Given the description of an element on the screen output the (x, y) to click on. 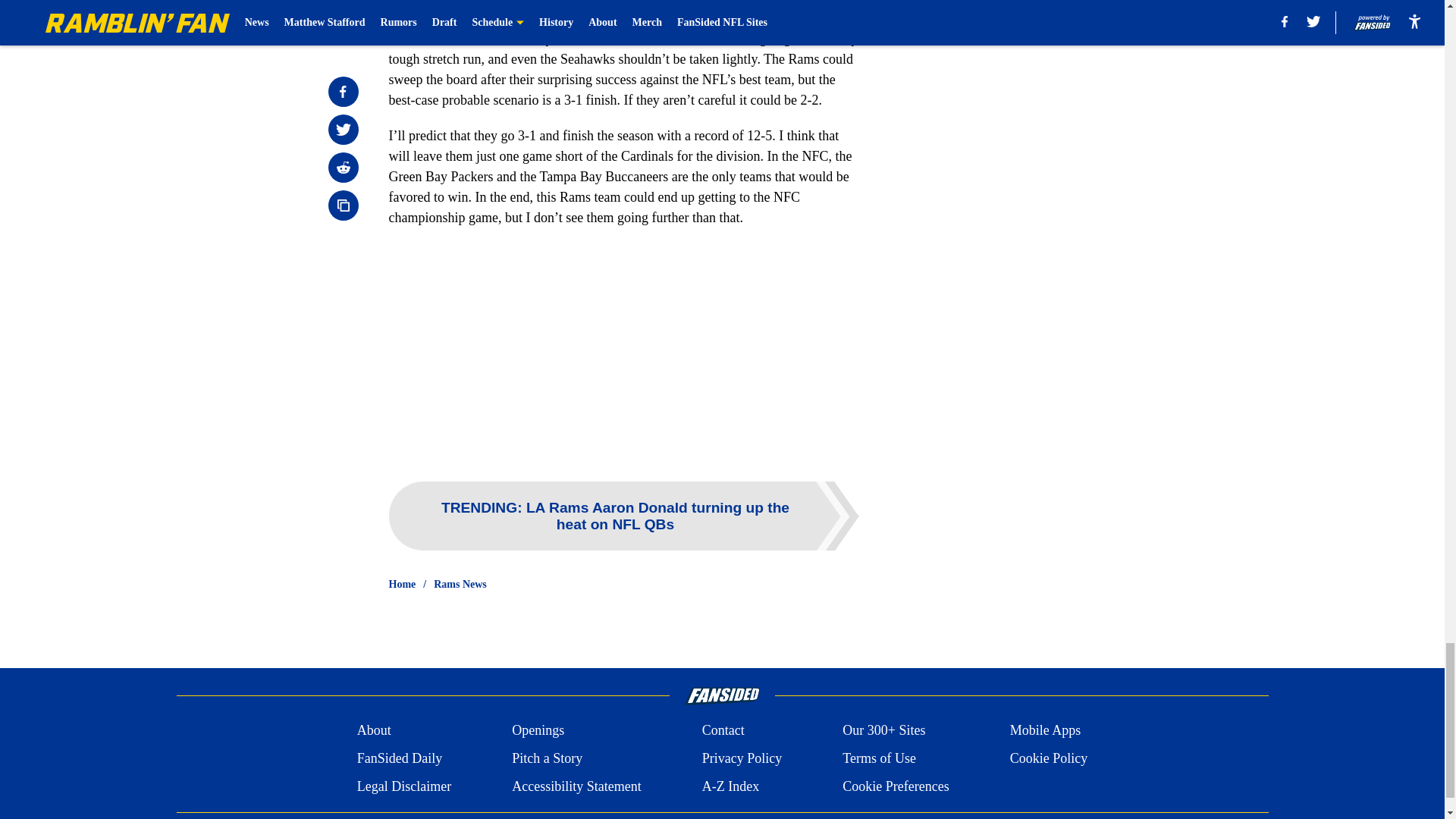
Pitch a Story (547, 758)
Openings (538, 730)
Contact (722, 730)
Mobile Apps (1045, 730)
Legal Disclaimer (403, 786)
A-Z Index (729, 786)
Terms of Use (879, 758)
Privacy Policy (742, 758)
Home (401, 584)
